Given the description of an element on the screen output the (x, y) to click on. 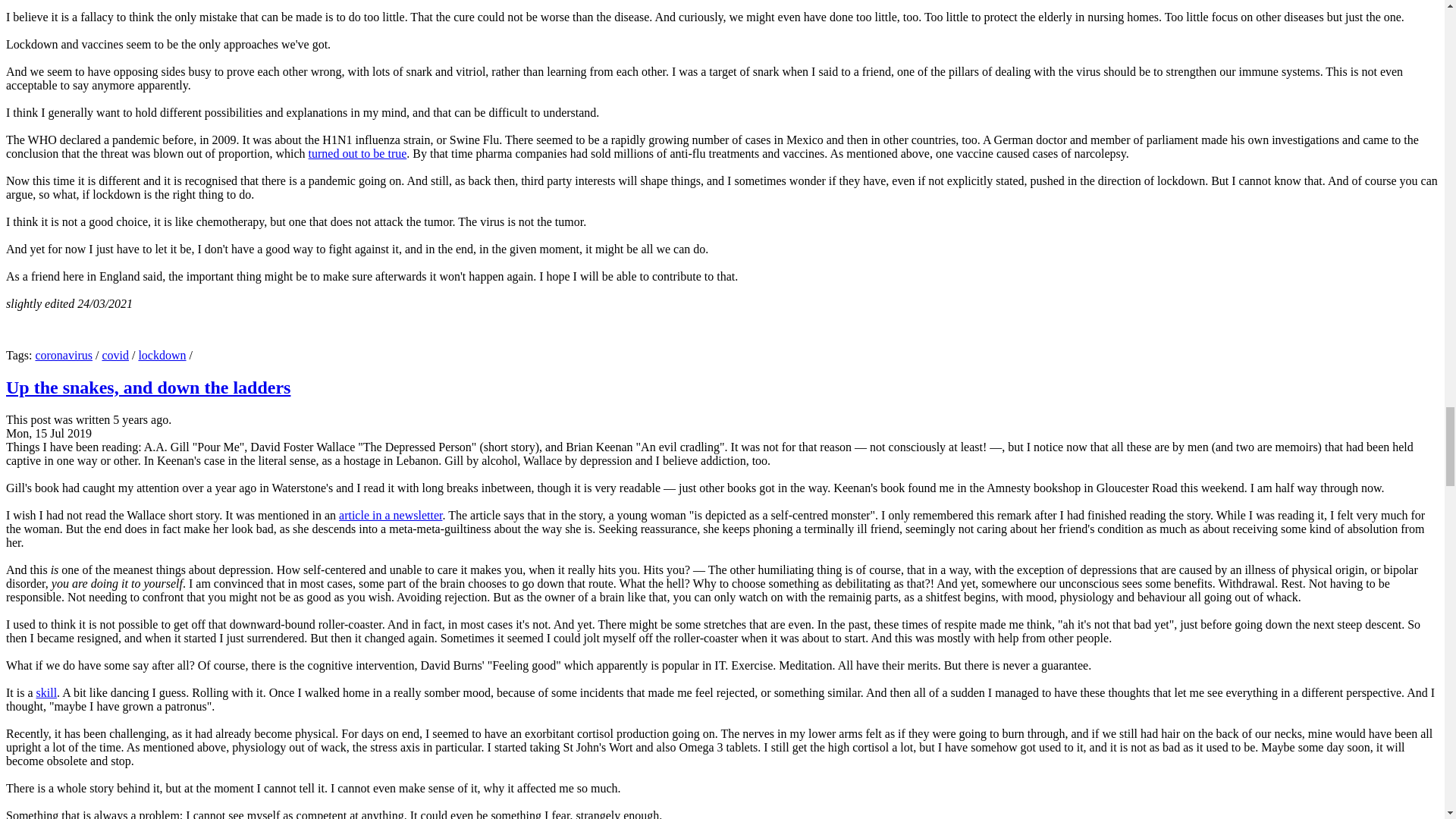
article in a newsletter (390, 514)
covid (115, 354)
turned out to be true (357, 153)
skill (47, 692)
coronavirus (63, 354)
lockdown (162, 354)
